Given the description of an element on the screen output the (x, y) to click on. 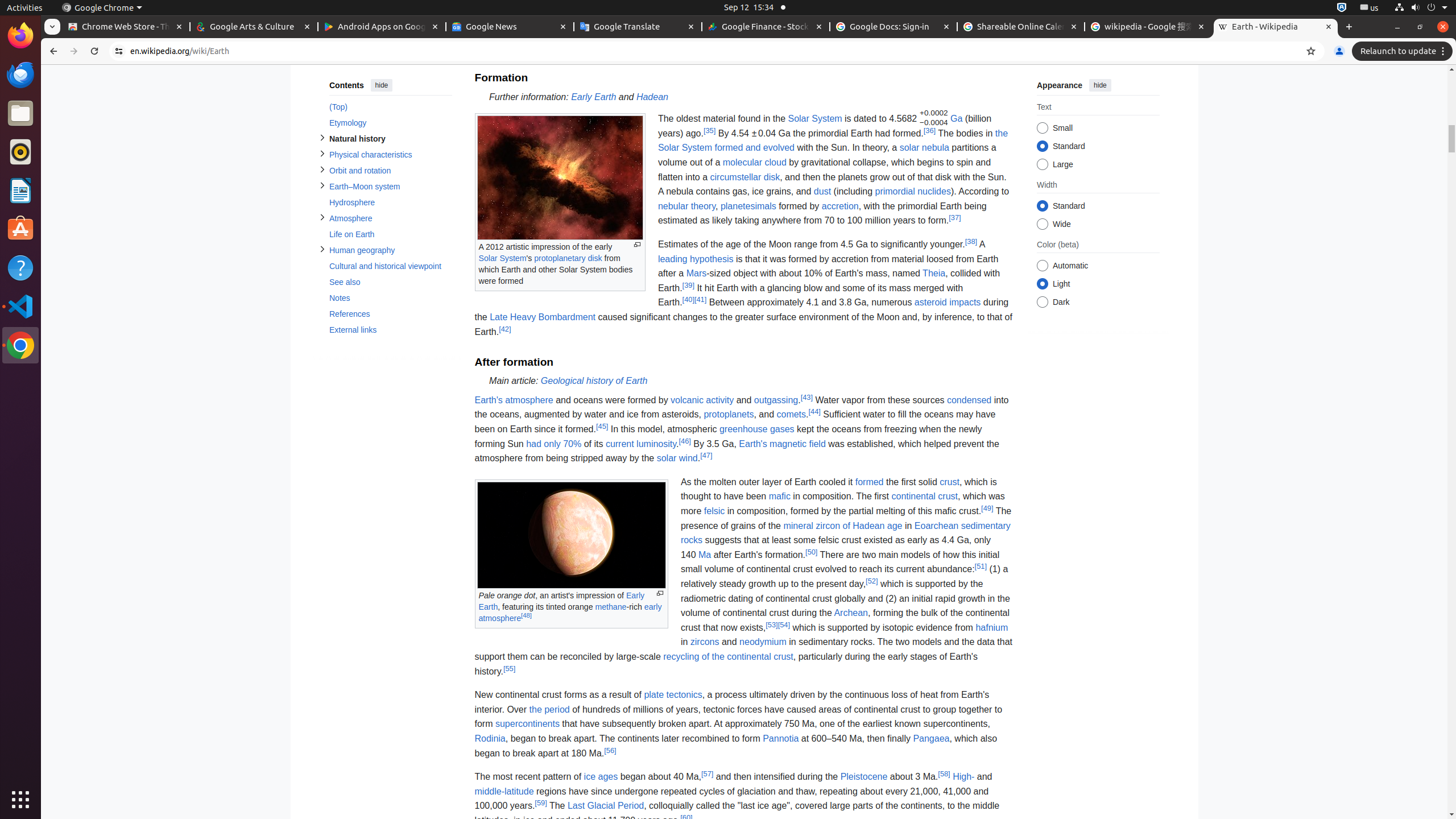
wikipedia - Google 搜索 - Memory usage - 85.9 MB Element type: page-tab (1148, 26)
protoplanetary disk Element type: link (568, 258)
asteroid impacts Element type: link (947, 302)
primordial nuclides Element type: link (912, 191)
outgassing Element type: link (775, 399)
